Given the description of an element on the screen output the (x, y) to click on. 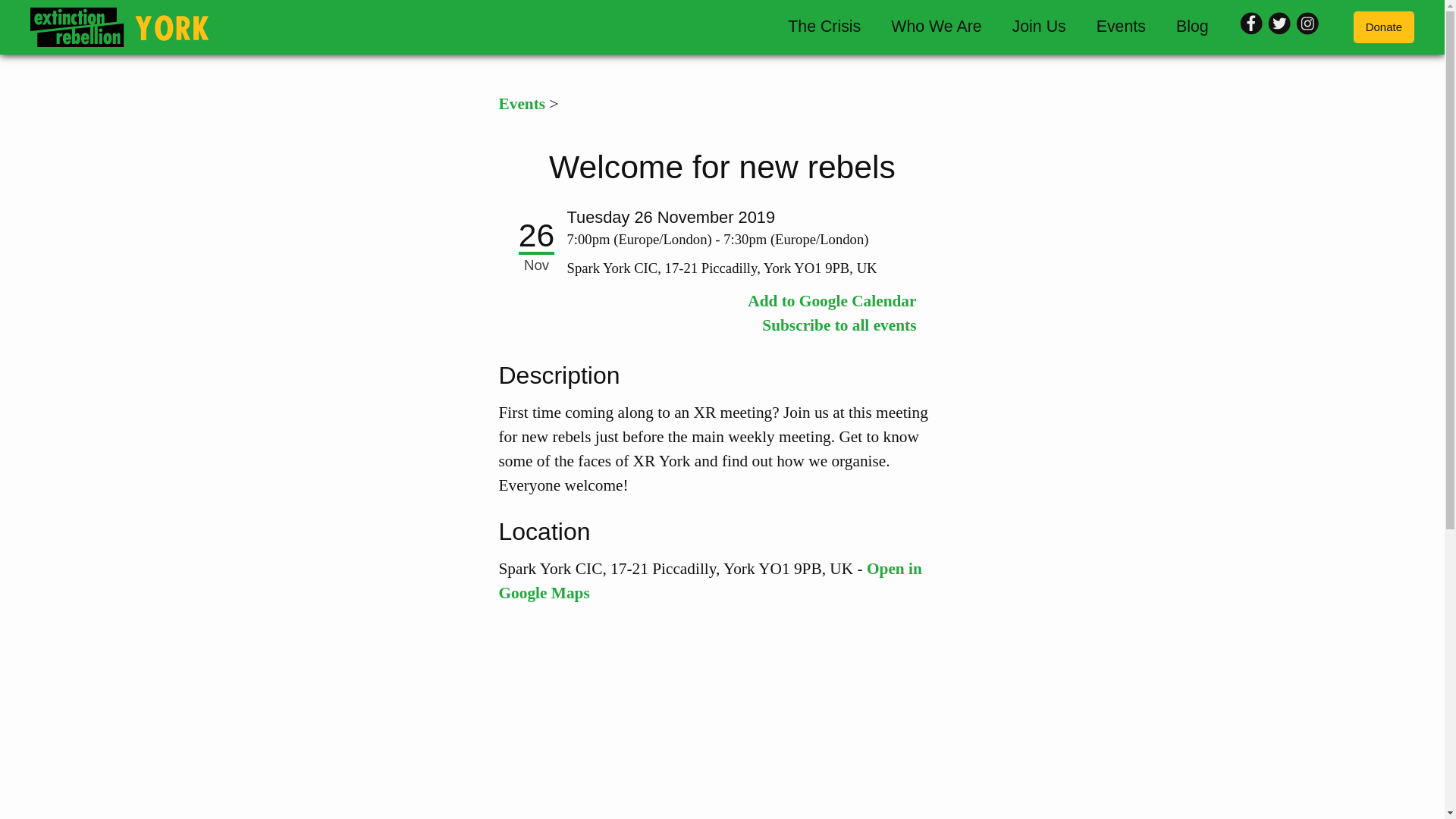
Who We Are (936, 26)
Events (1120, 26)
Subscribe to all events (838, 325)
Extinction Rebellion York (119, 27)
Donate (1383, 27)
Blog (1192, 26)
Events (522, 104)
Join Us (1038, 26)
Open in Google Maps (710, 580)
The Crisis (823, 26)
Add to Google Calendar (831, 300)
